Given the description of an element on the screen output the (x, y) to click on. 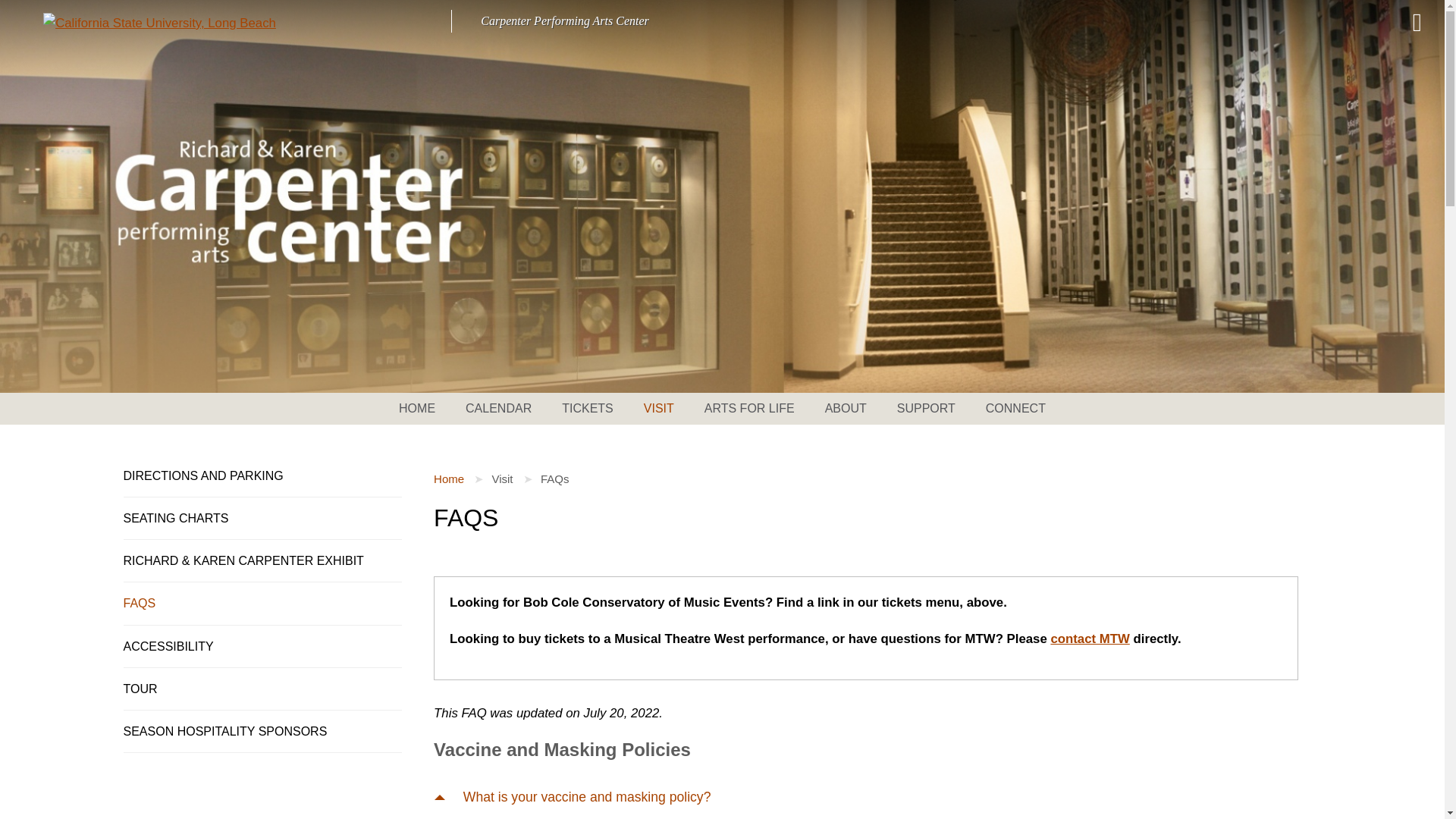
CONNECT (1008, 409)
ARTS FOR LIFE (748, 409)
SUPPORT (926, 409)
Carpenter Performing Arts Center (563, 20)
VISIT (658, 409)
CALENDAR (498, 409)
HOME (423, 409)
ABOUT (845, 409)
TICKETS (587, 409)
